Given the description of an element on the screen output the (x, y) to click on. 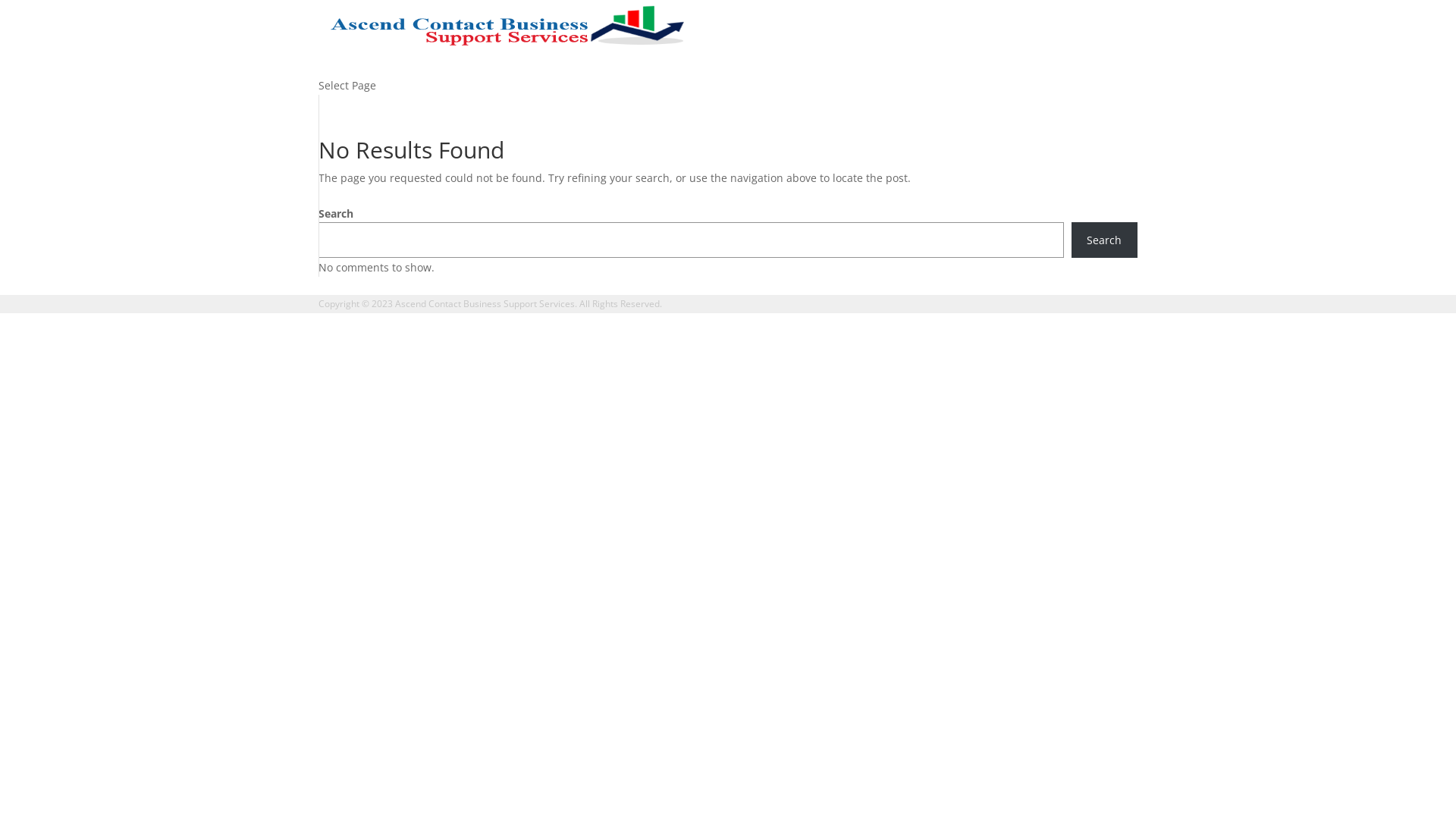
Search Element type: text (1104, 239)
